Given the description of an element on the screen output the (x, y) to click on. 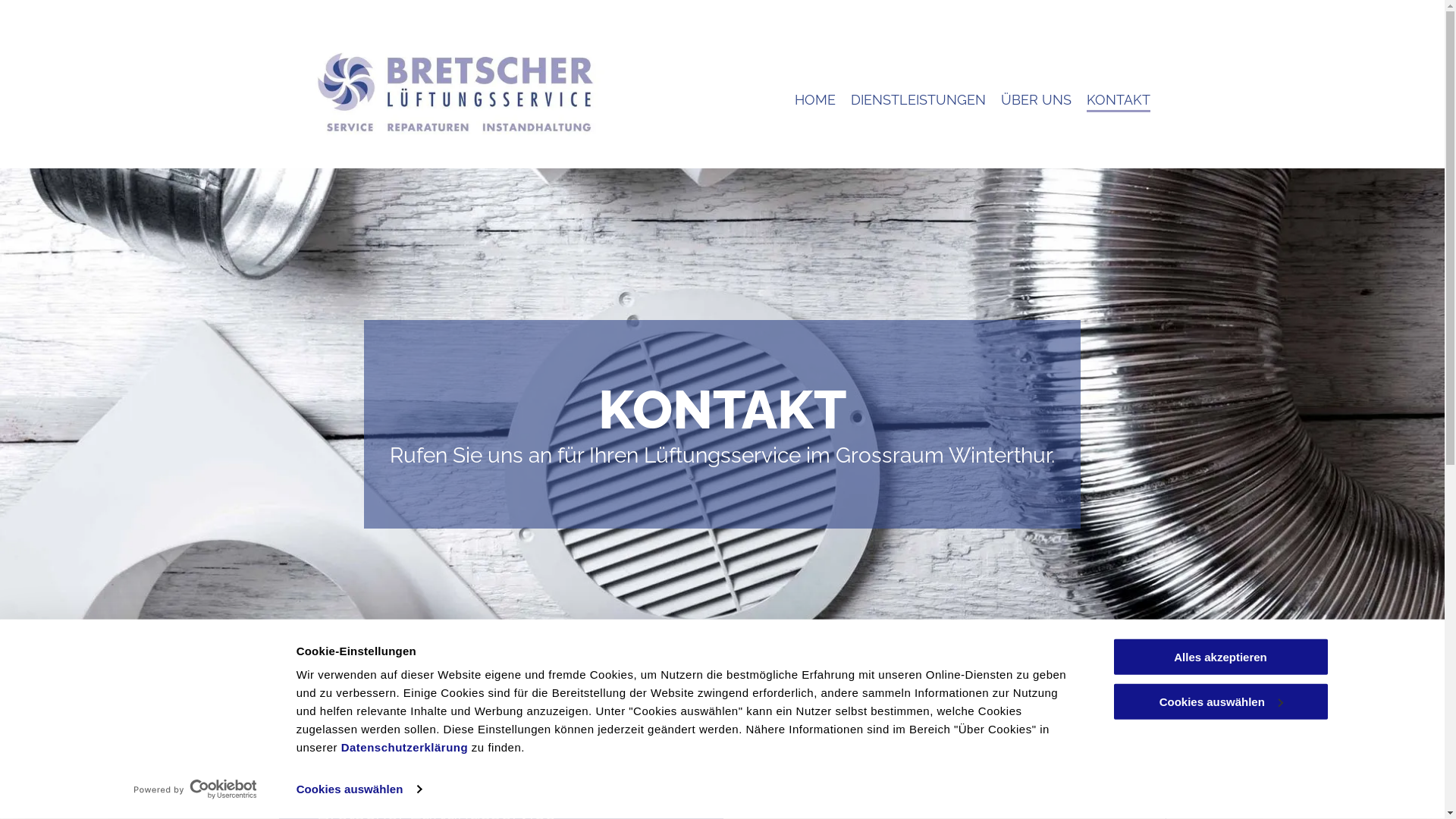
Alles akzeptieren Element type: text (1219, 656)
KONTAKT Element type: text (1118, 93)
HOME Element type: text (814, 93)
DIENSTLEISTUNGEN Element type: text (917, 93)
